Given the description of an element on the screen output the (x, y) to click on. 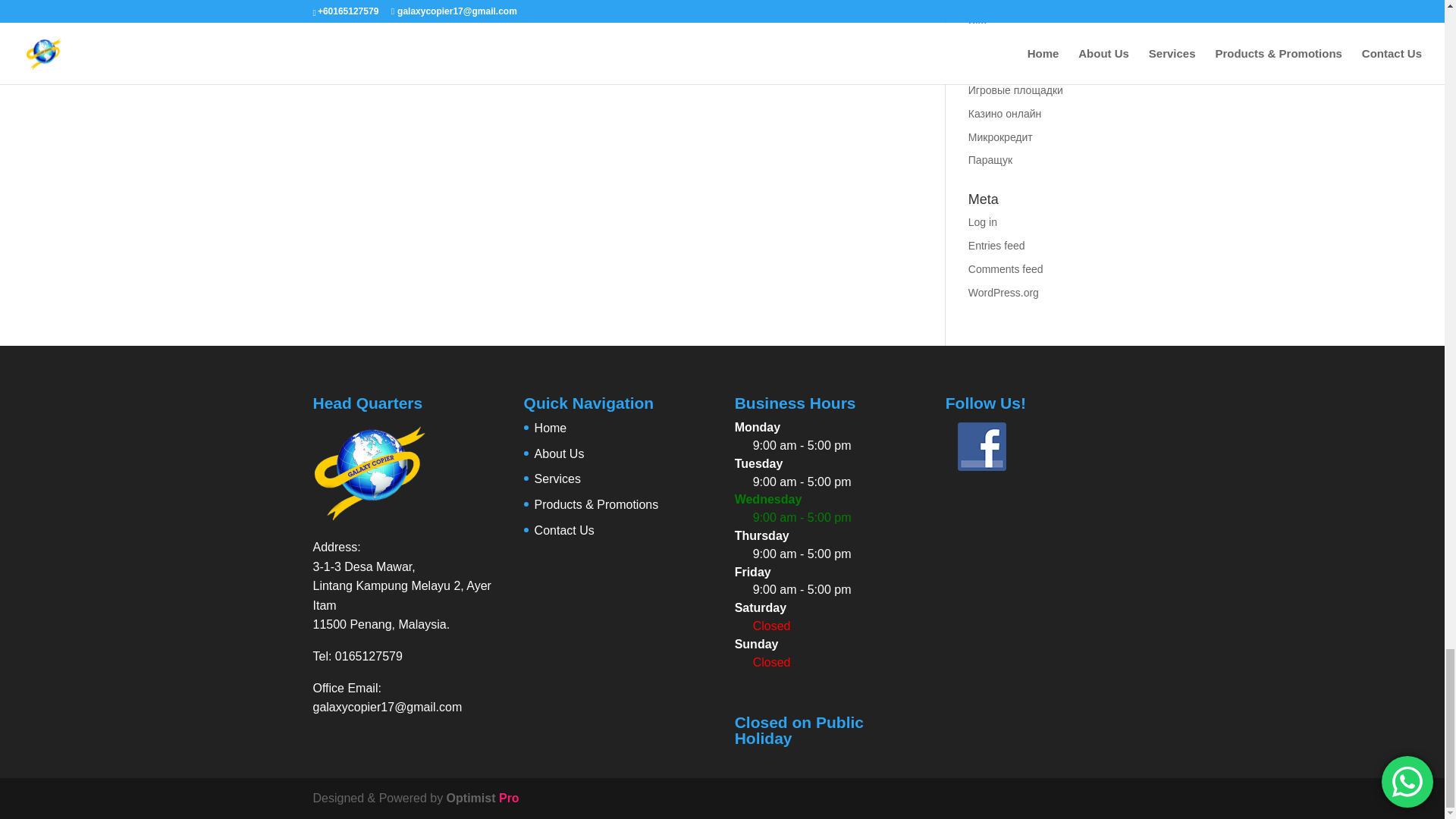
Facebook (982, 446)
Optimist Pro (482, 797)
